Given the description of an element on the screen output the (x, y) to click on. 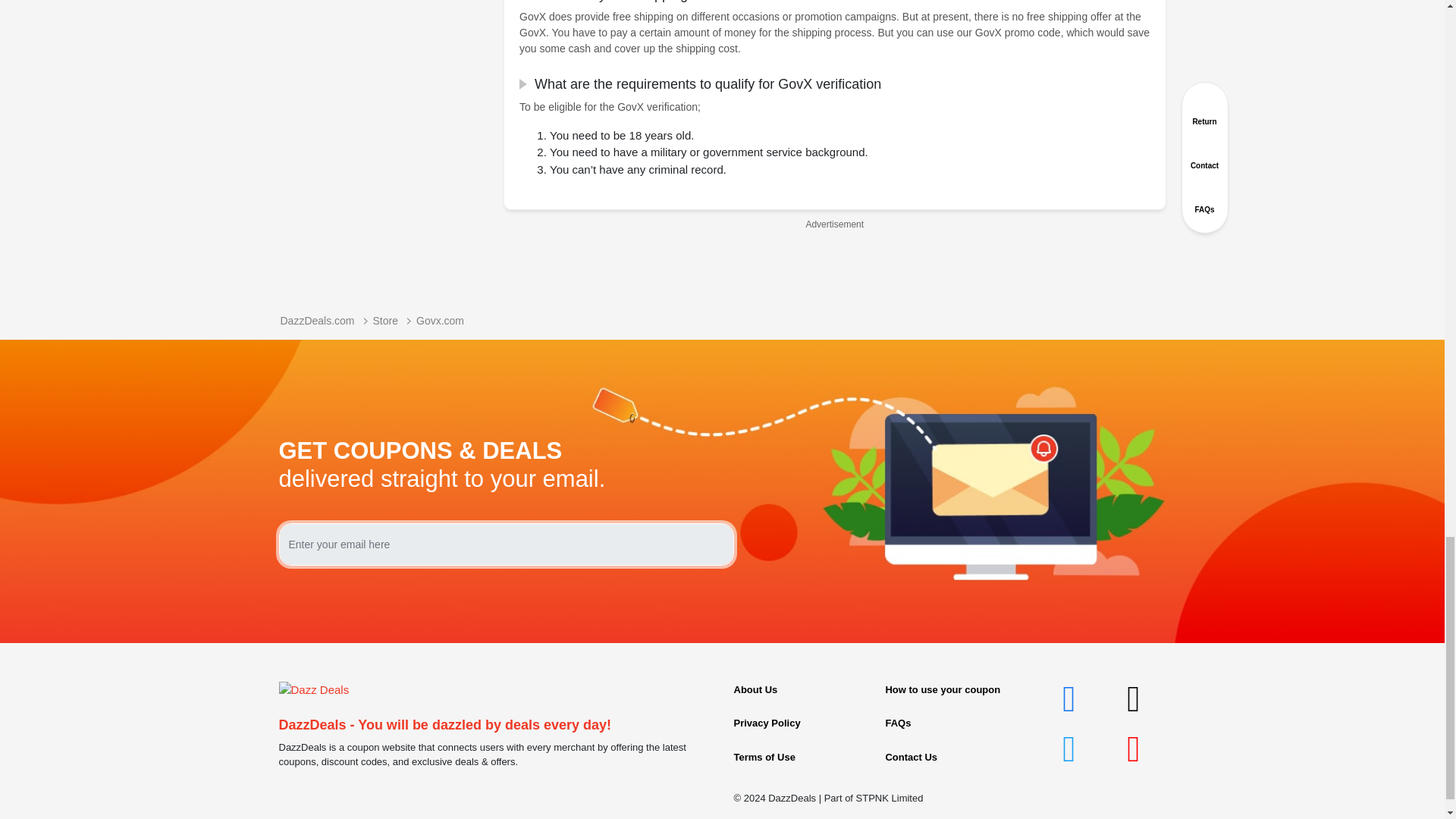
about us (755, 689)
Dazzdeals.CoM (314, 688)
Privacy Policy (766, 722)
